Given the description of an element on the screen output the (x, y) to click on. 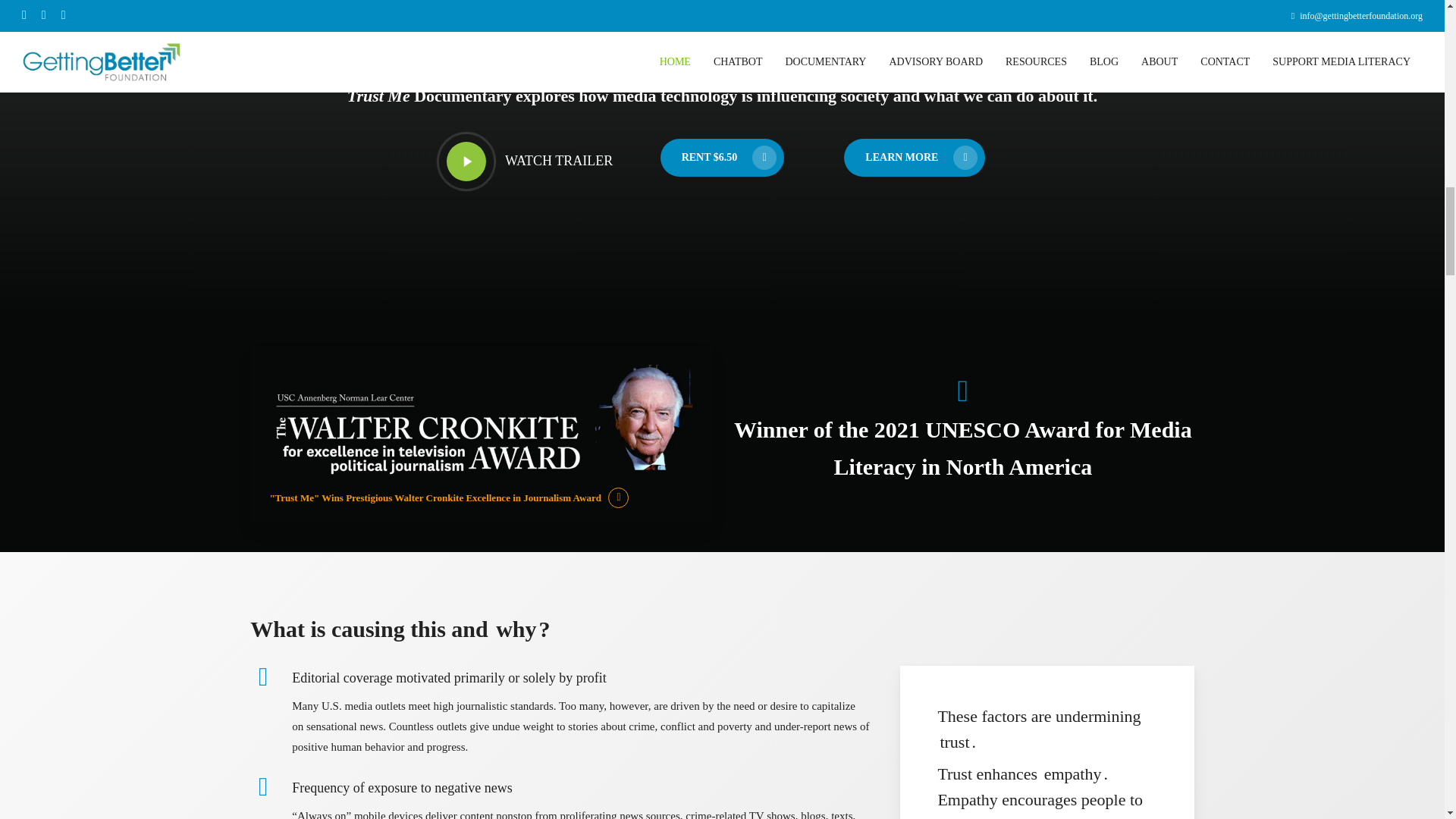
LEARN MORE (529, 161)
